Given the description of an element on the screen output the (x, y) to click on. 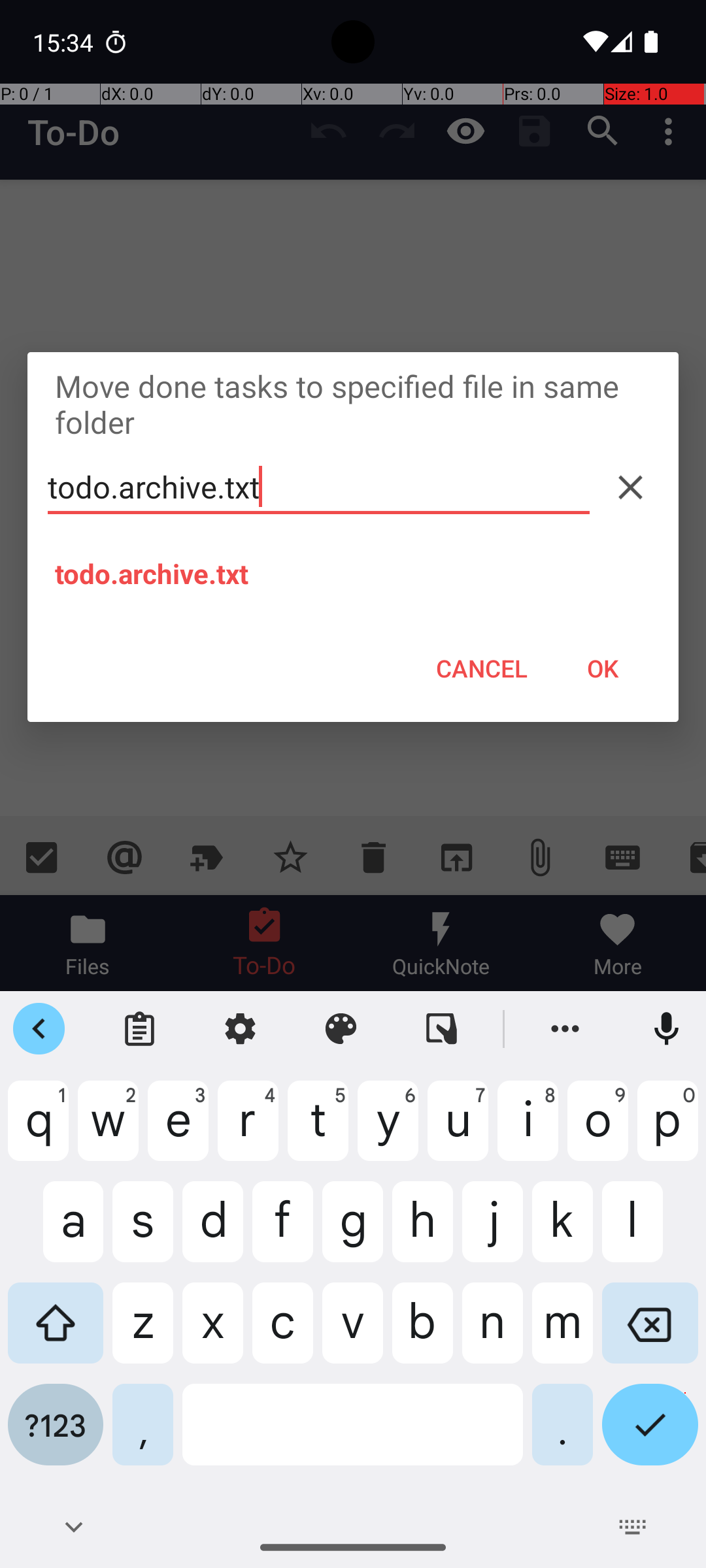
Move done tasks to specified file in same folder Element type: android.widget.TextView (352, 403)
todo.archive.txt Element type: android.widget.EditText (318, 486)
